Given the description of an element on the screen output the (x, y) to click on. 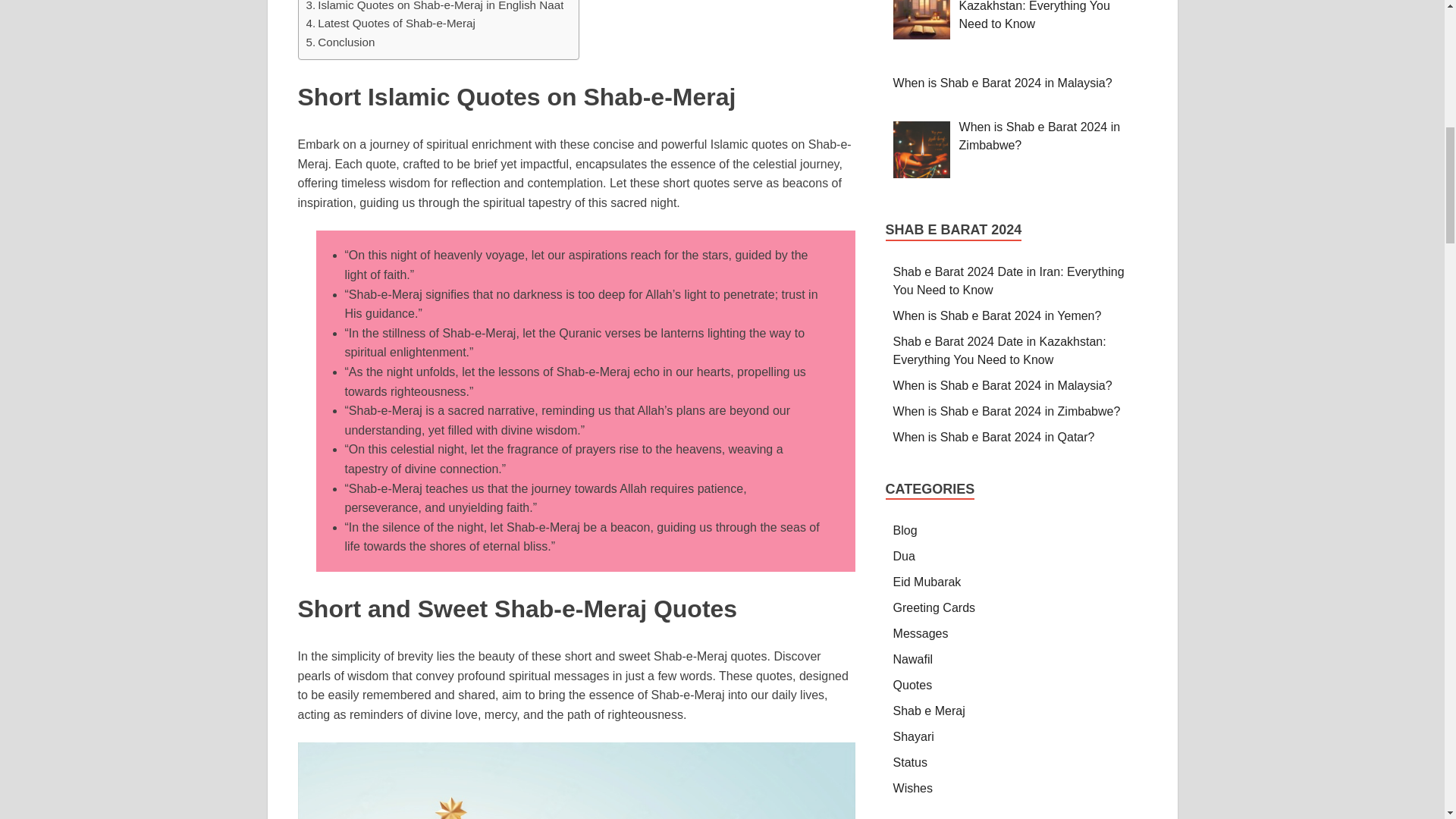
Conclusion  (340, 42)
Latest Quotes of Shab-e-Meraj  (390, 23)
Islamic Quotes on Shab-e-Meraj in English Naat (434, 7)
Islamic Quotes on Shab-e-Meraj in English Naat  (434, 7)
